Given the description of an element on the screen output the (x, y) to click on. 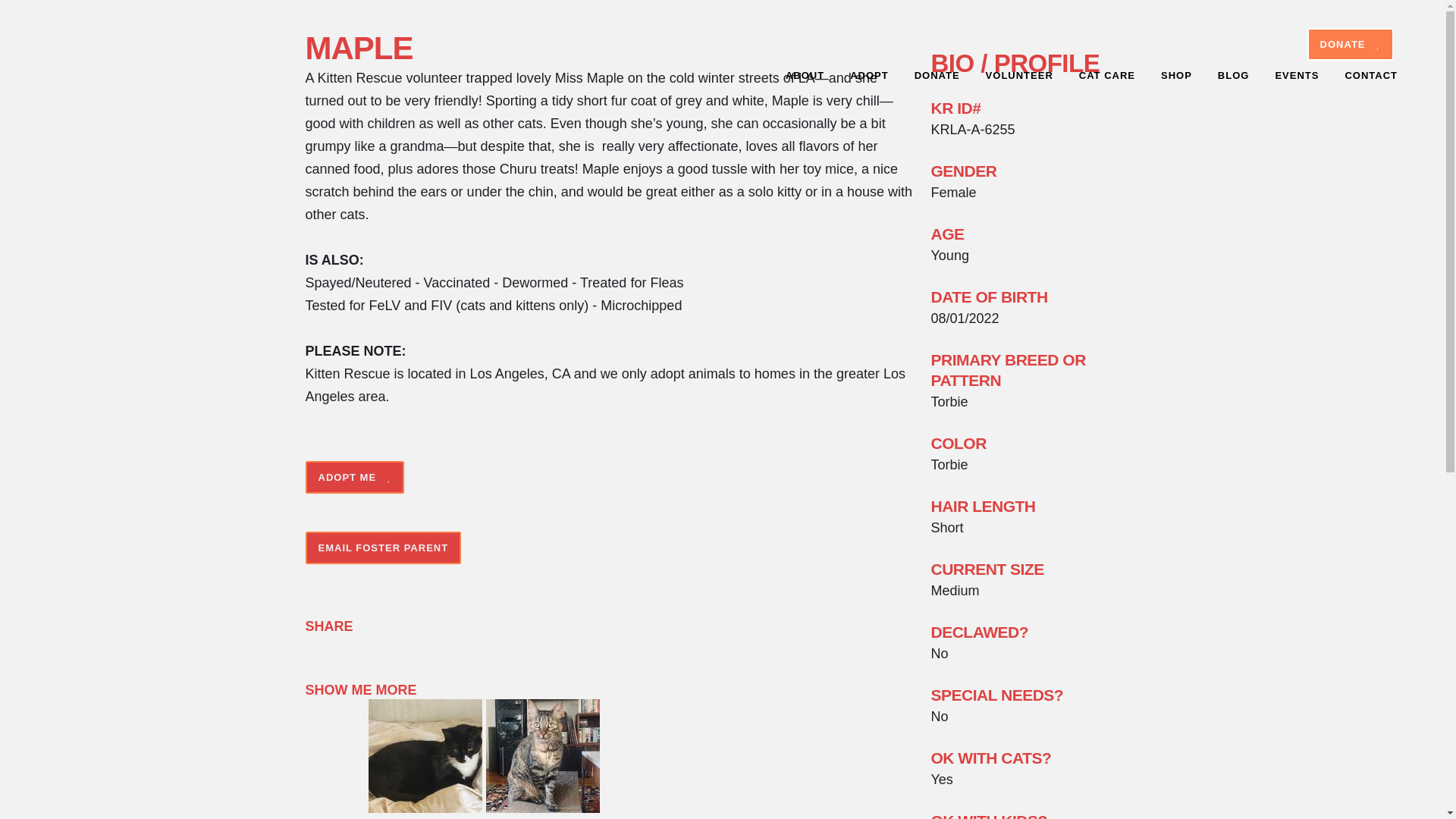
ABOUT (805, 75)
SHOP (1176, 75)
EVENTS (1297, 75)
CAT CARE (1106, 75)
CONTACT (1371, 75)
BLOG (1233, 75)
DONATE (1350, 43)
DONATE (936, 75)
Tristan (542, 807)
ADOPT (869, 75)
Trixie (424, 807)
VOLUNTEER (1018, 75)
